Given the description of an element on the screen output the (x, y) to click on. 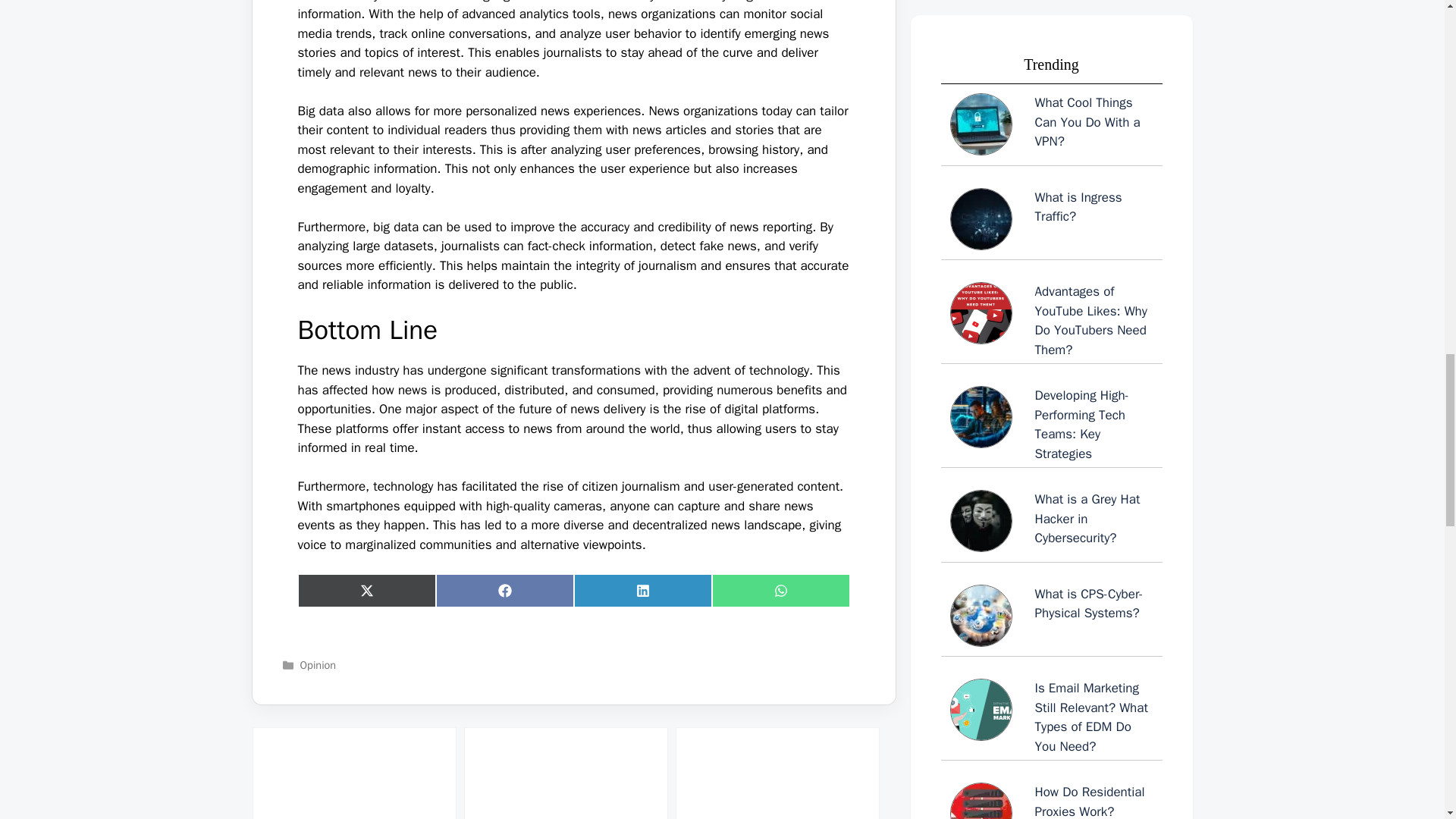
SHARE ON LINKEDIN (642, 589)
SHARE ON FACEBOOK (504, 589)
SHARE ON WHATSAPP (779, 589)
Why You Should Consider Video Transcription (353, 773)
